Given the description of an element on the screen output the (x, y) to click on. 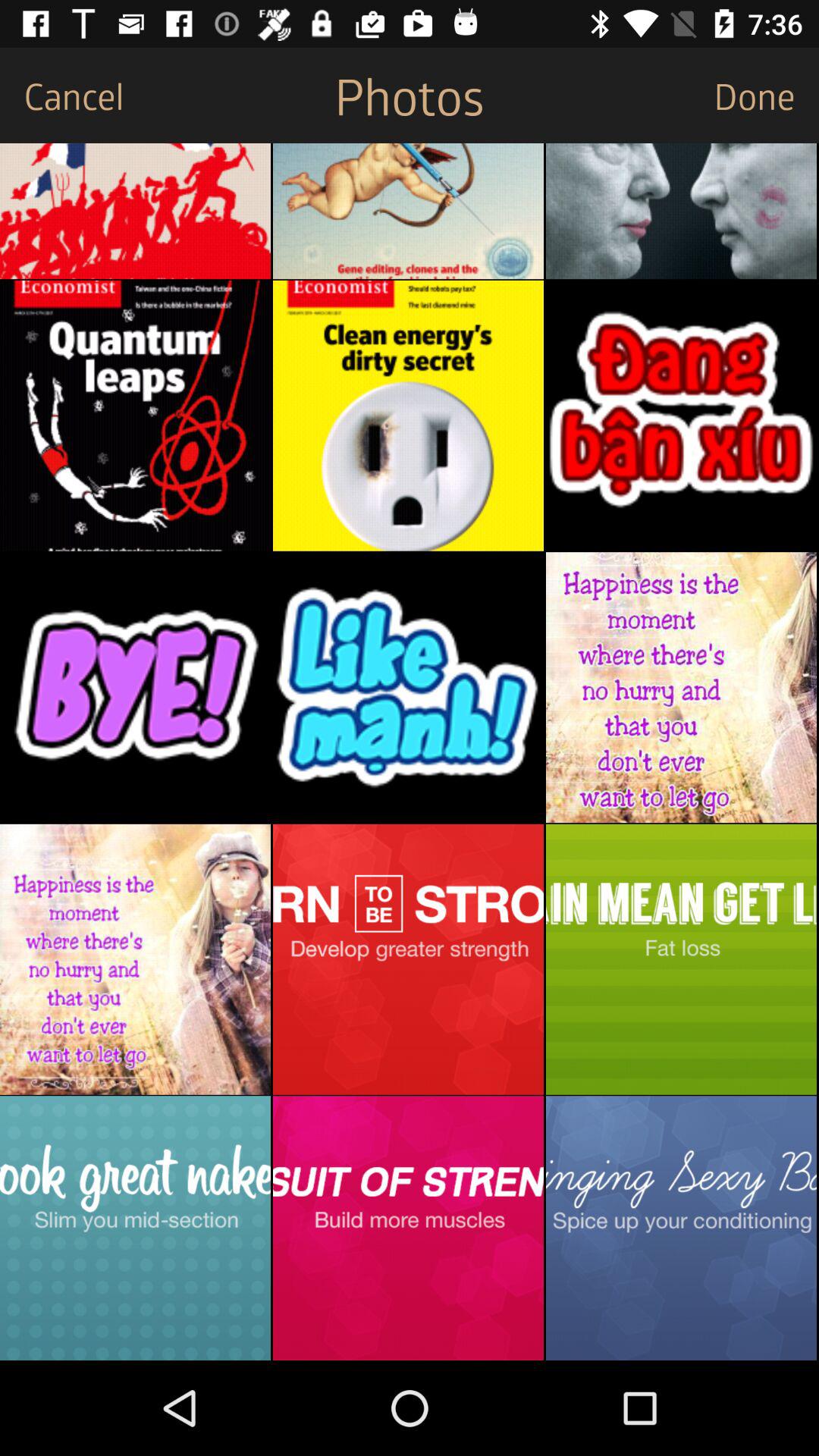
select the image tab to open image (135, 211)
